Given the description of an element on the screen output the (x, y) to click on. 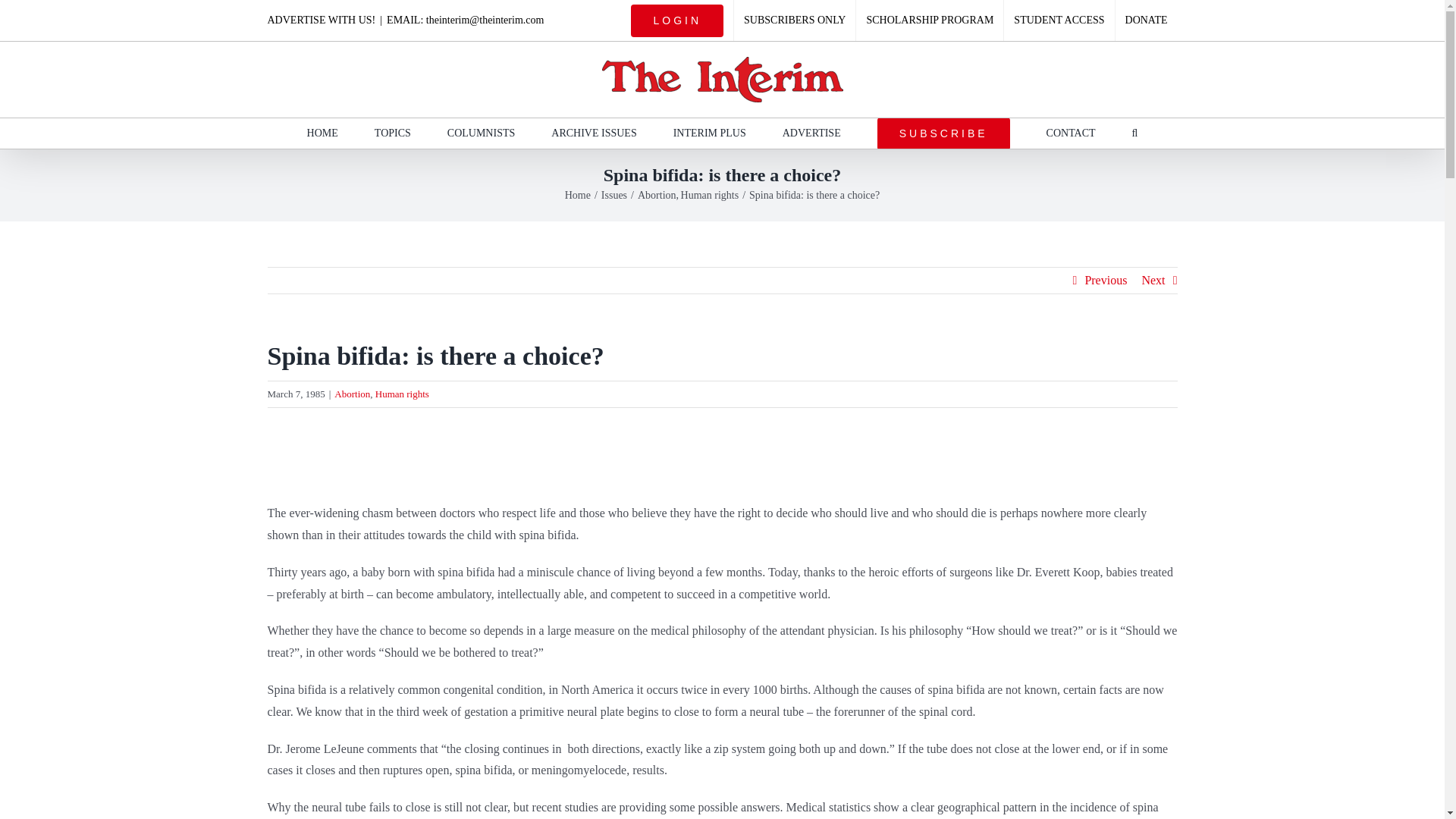
Human rights (710, 194)
ADVERTISE (812, 132)
HOME (322, 132)
Human rights (402, 393)
DONATE (1146, 20)
Abortion (351, 393)
Previous (1105, 280)
CONTACT (1071, 132)
Next (1152, 280)
INTERIM PLUS (708, 132)
SUBSCRIBERS ONLY (794, 20)
Home (577, 194)
SUBSCRIBE (943, 132)
TOPICS (392, 132)
Abortion (657, 194)
